Given the description of an element on the screen output the (x, y) to click on. 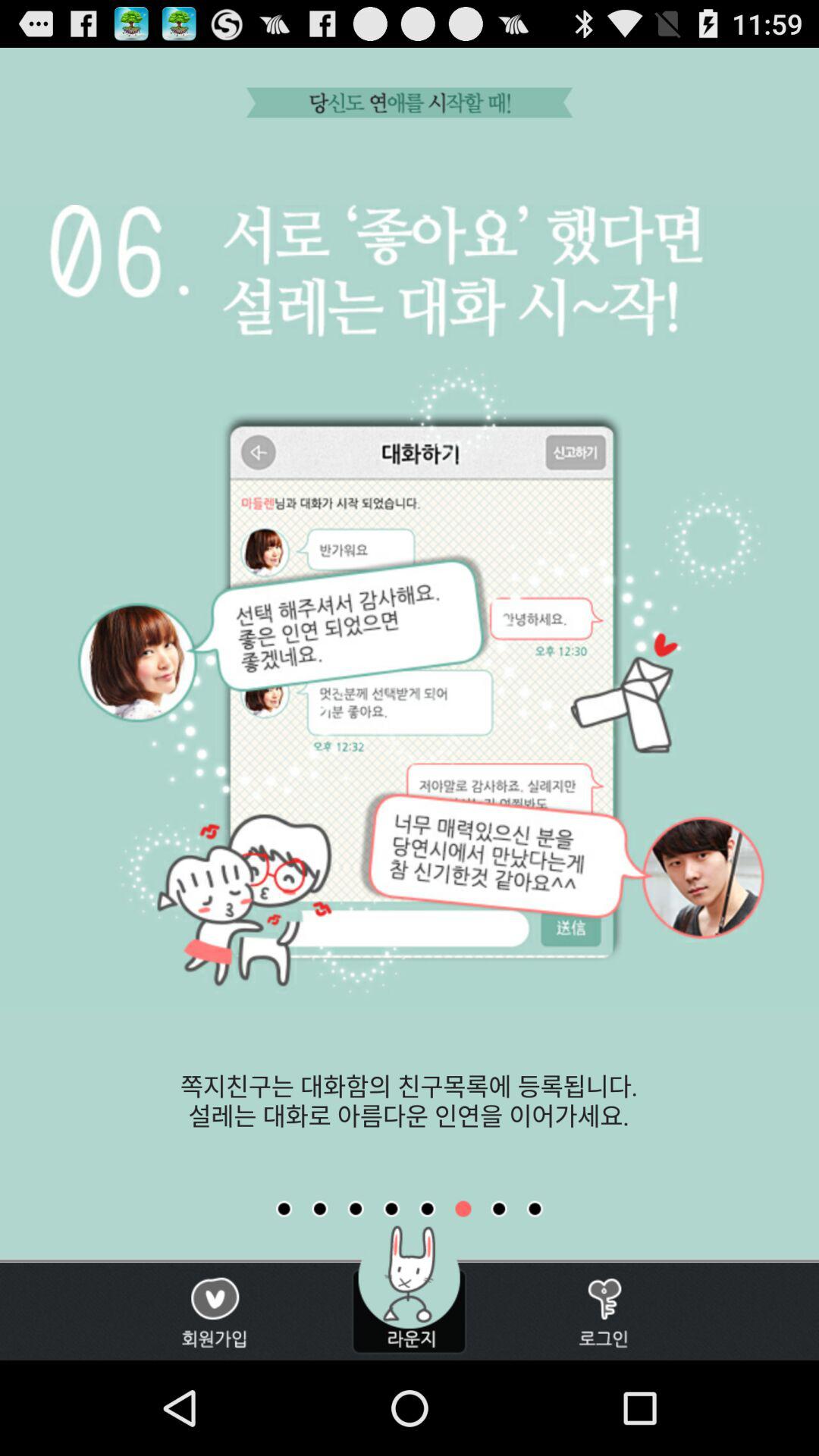
select page (427, 1208)
